Given the description of an element on the screen output the (x, y) to click on. 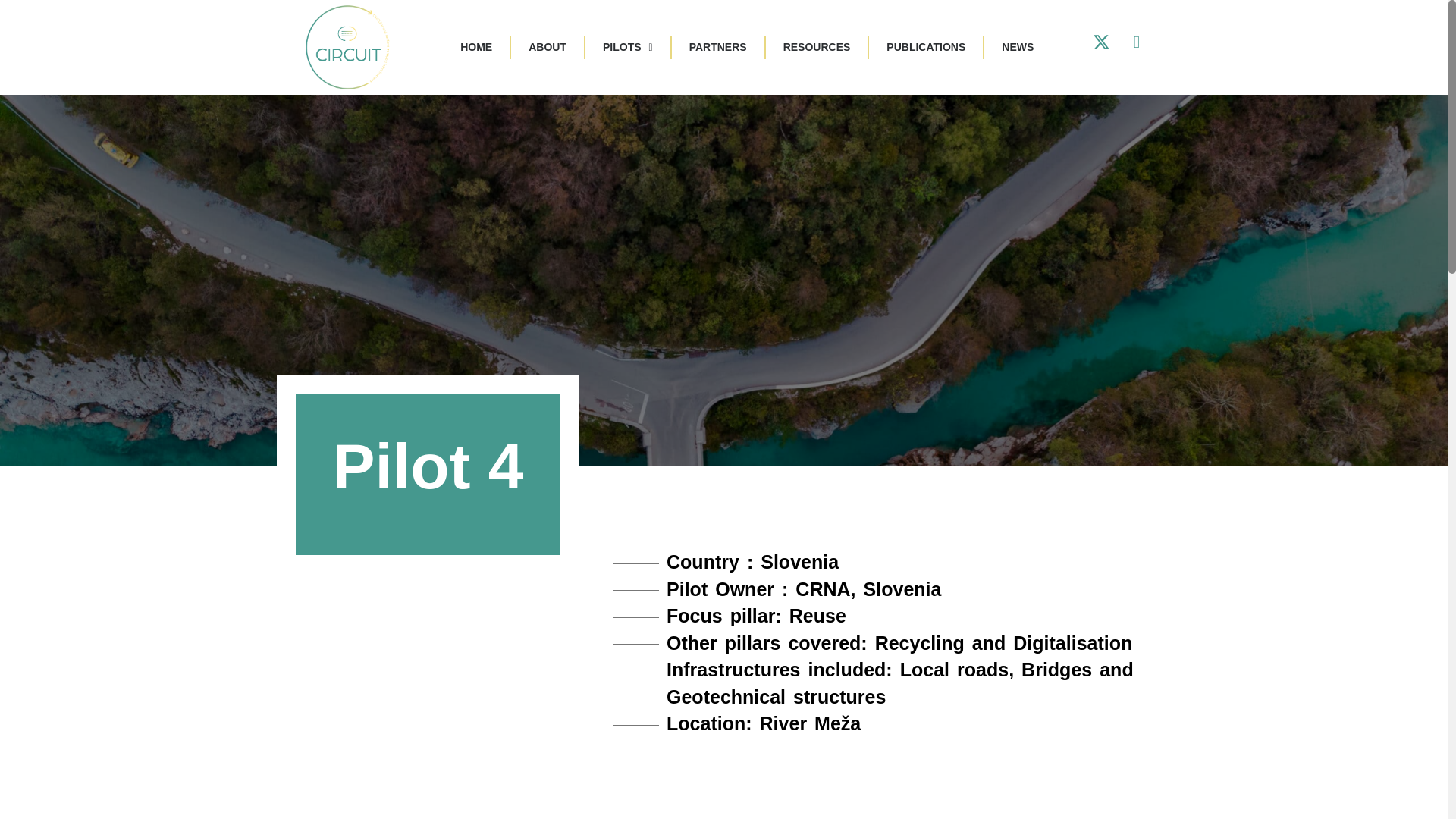
HOME (475, 47)
NEWS (1017, 47)
PARTNERS (717, 47)
ABOUT (546, 47)
PILOTS (628, 47)
PUBLICATIONS (924, 47)
RESOURCES (817, 47)
